Given the description of an element on the screen output the (x, y) to click on. 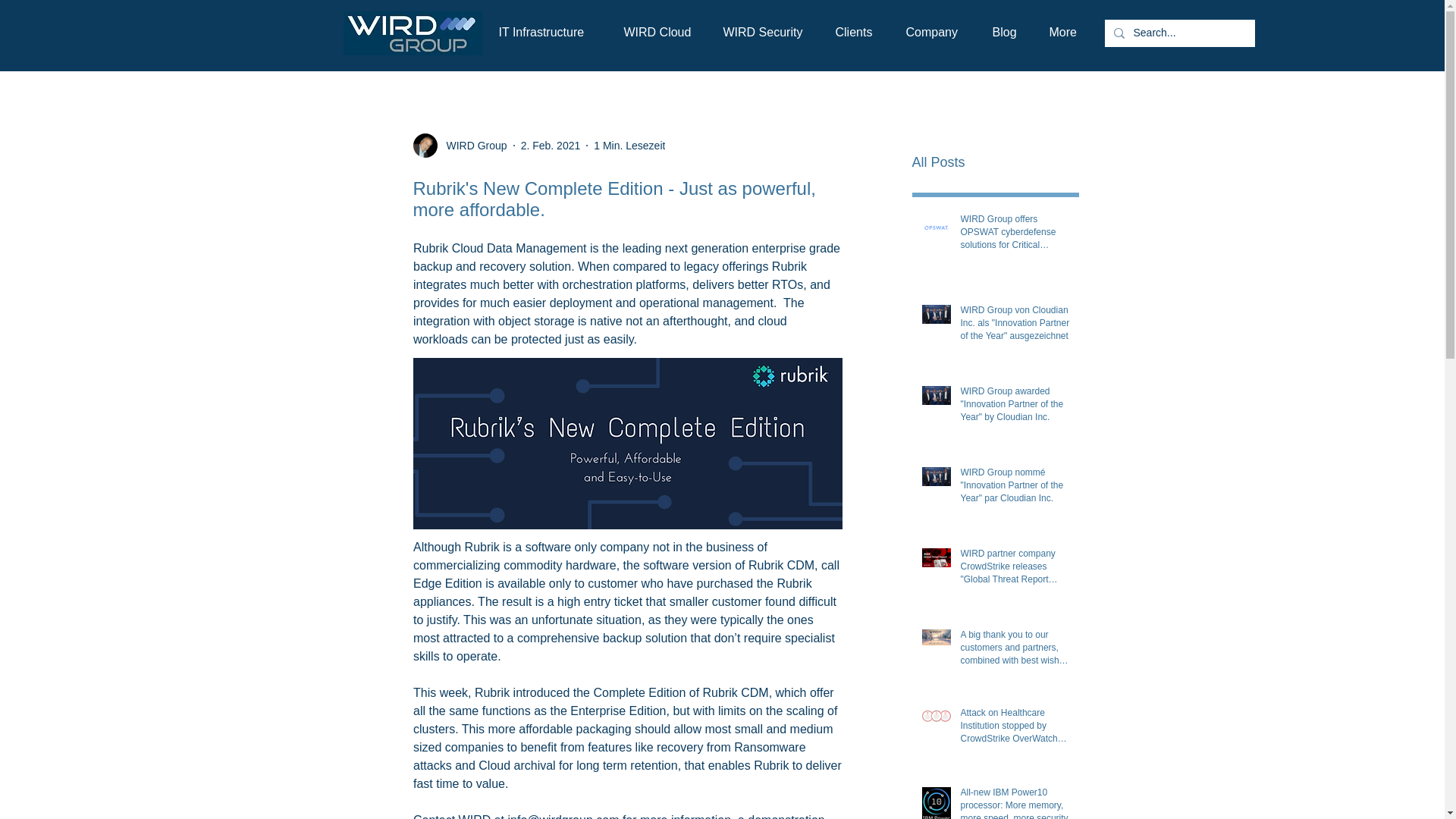
WIRD Group (471, 145)
WIRD Cloud (657, 31)
Clients (856, 31)
Company (932, 31)
1 Min. Lesezeit (629, 145)
Blog (1004, 31)
IT Infrastructure (545, 31)
WIRD Security (764, 31)
2. Feb. 2021 (550, 145)
